Given the description of an element on the screen output the (x, y) to click on. 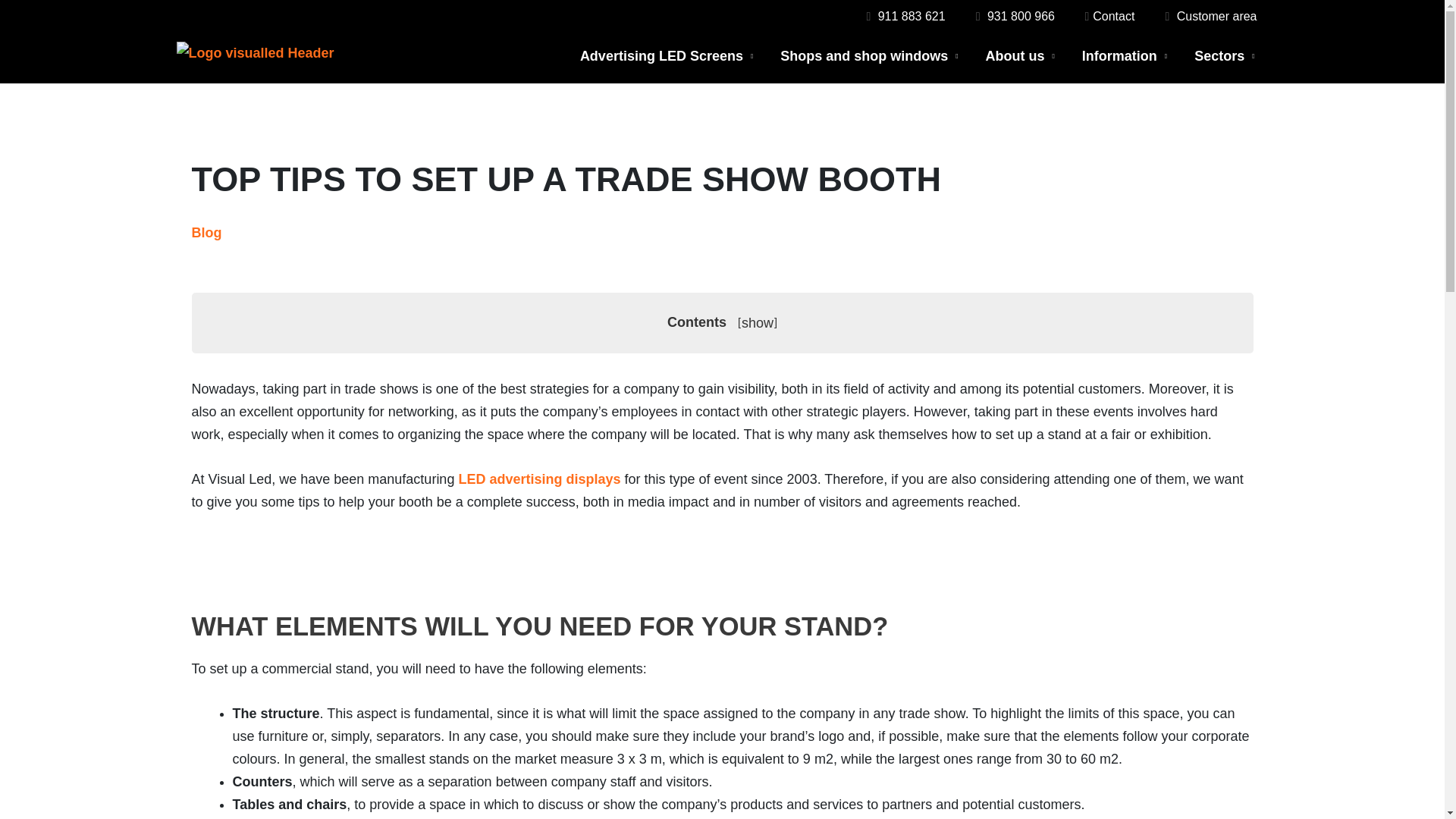
Advertising LED Screens (666, 55)
911 883 621 (903, 15)
931 800 966 (1015, 15)
Customer area (1209, 16)
Shops and shop windows (869, 55)
Contact (1106, 15)
Information (1124, 55)
Sectors (1224, 55)
About us (1020, 55)
